Given the description of an element on the screen output the (x, y) to click on. 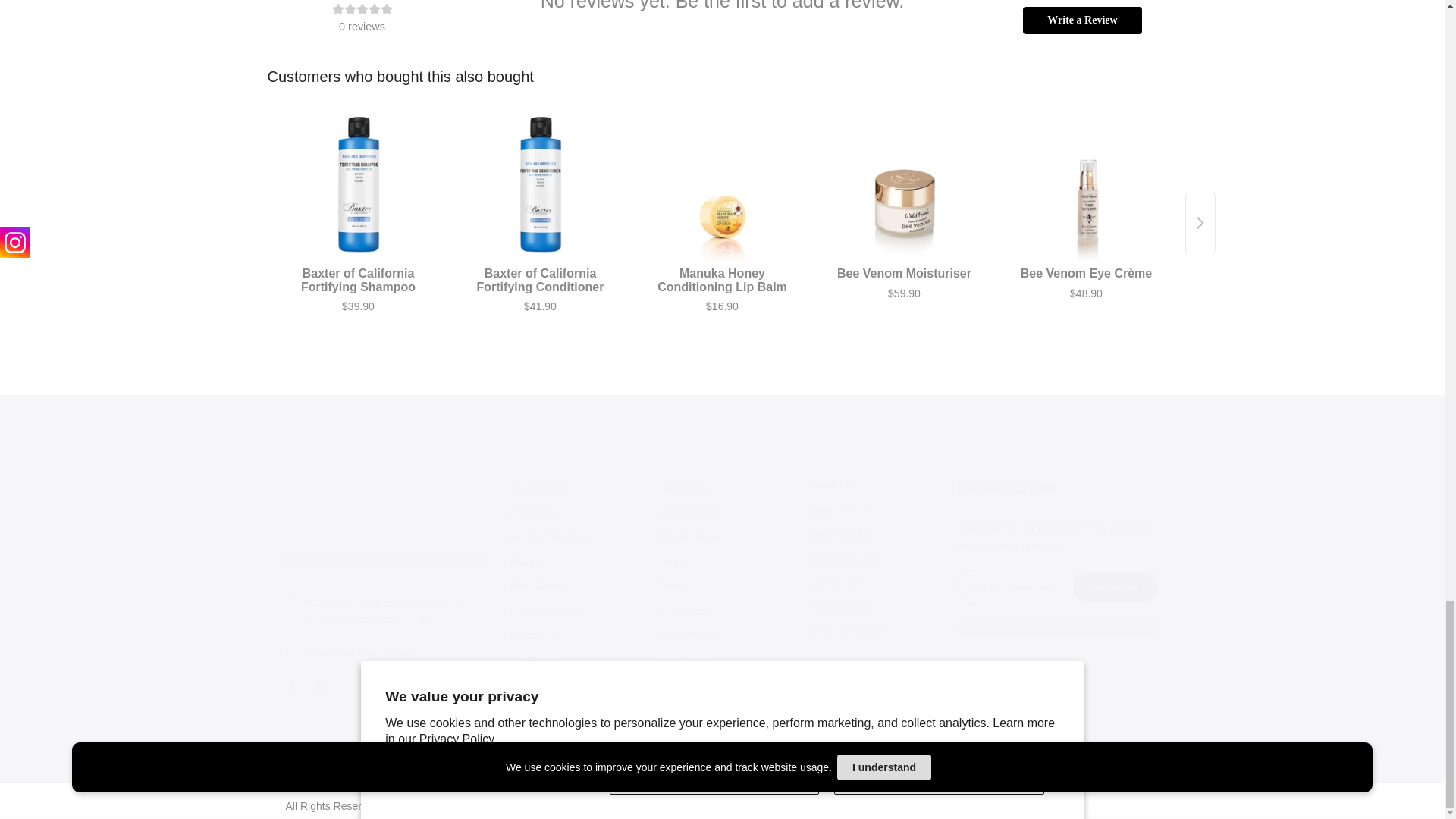
Bee Venom Moisturiser (904, 184)
Manuka Honey Conditioning Lip Balm (722, 184)
Baxter of California Fortifying Shampoo (358, 184)
Baxter of California Fortifying Conditioner (540, 184)
